Given the description of an element on the screen output the (x, y) to click on. 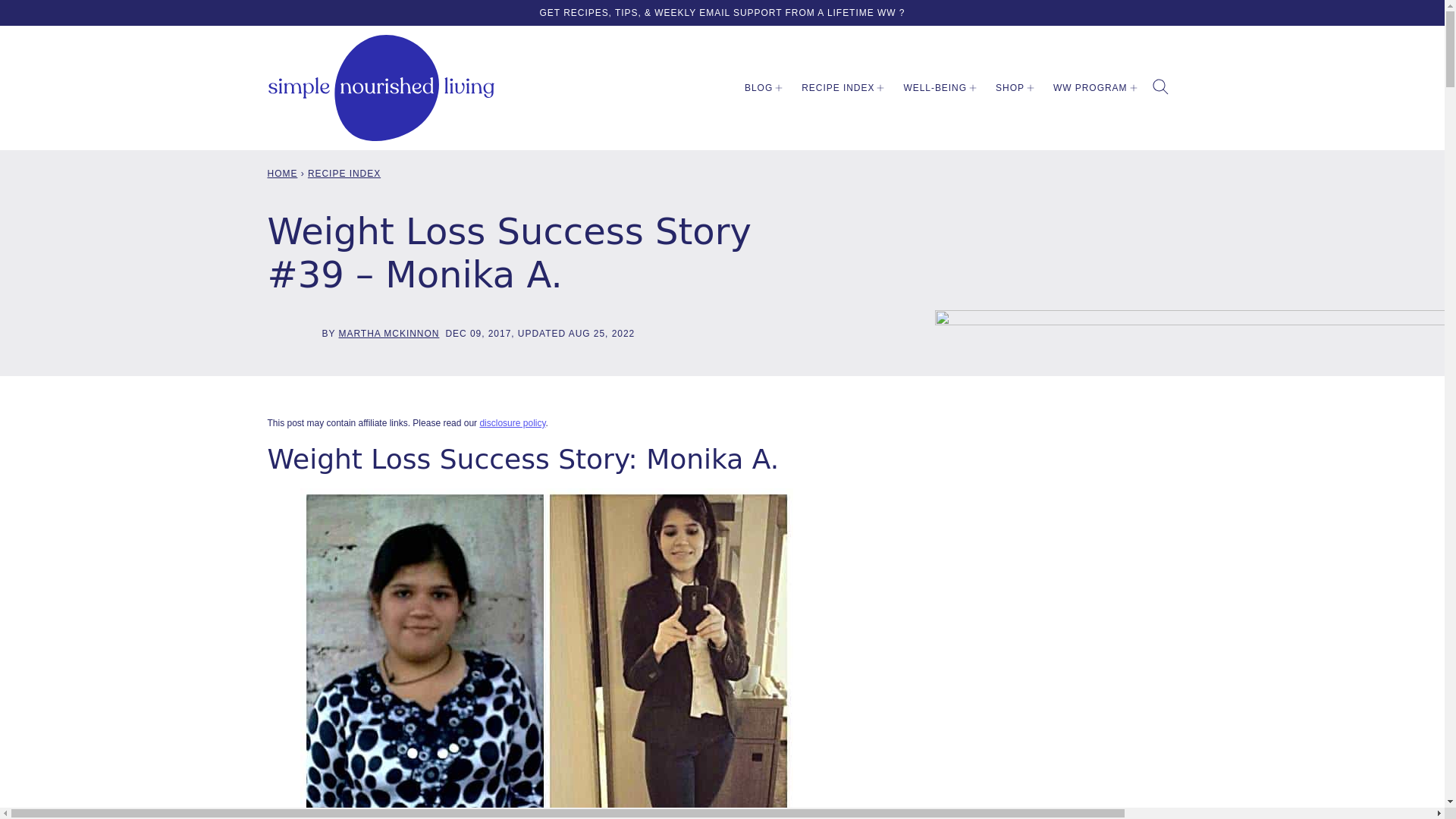
RECIPE INDEX (840, 87)
WELL-BEING (937, 87)
BLOG (760, 87)
